Given the description of an element on the screen output the (x, y) to click on. 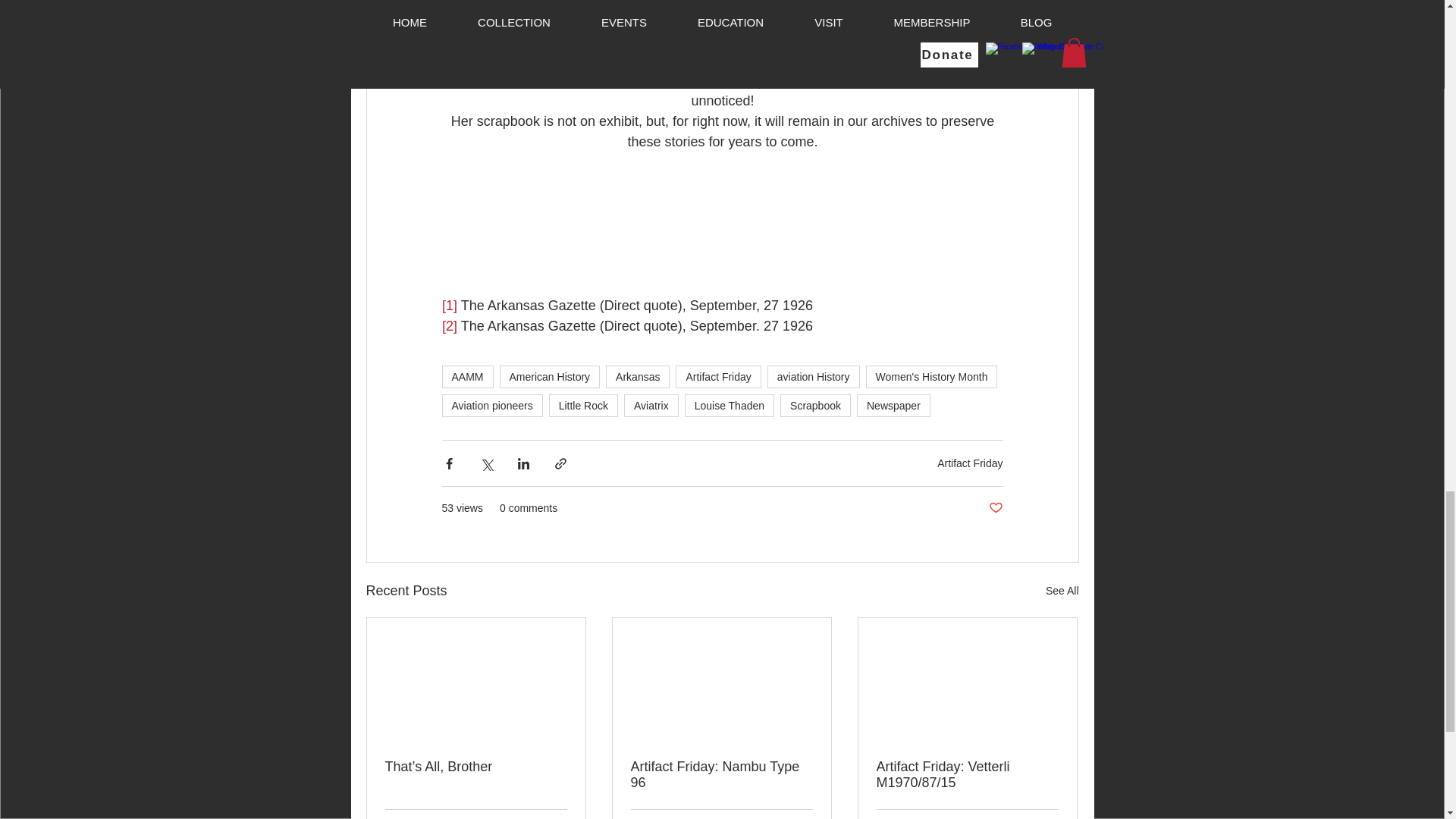
Women's History Month (931, 376)
Arkansas (637, 376)
aviation History (813, 376)
AAMM (467, 376)
Artifact Friday (717, 376)
American History (549, 376)
